Given the description of an element on the screen output the (x, y) to click on. 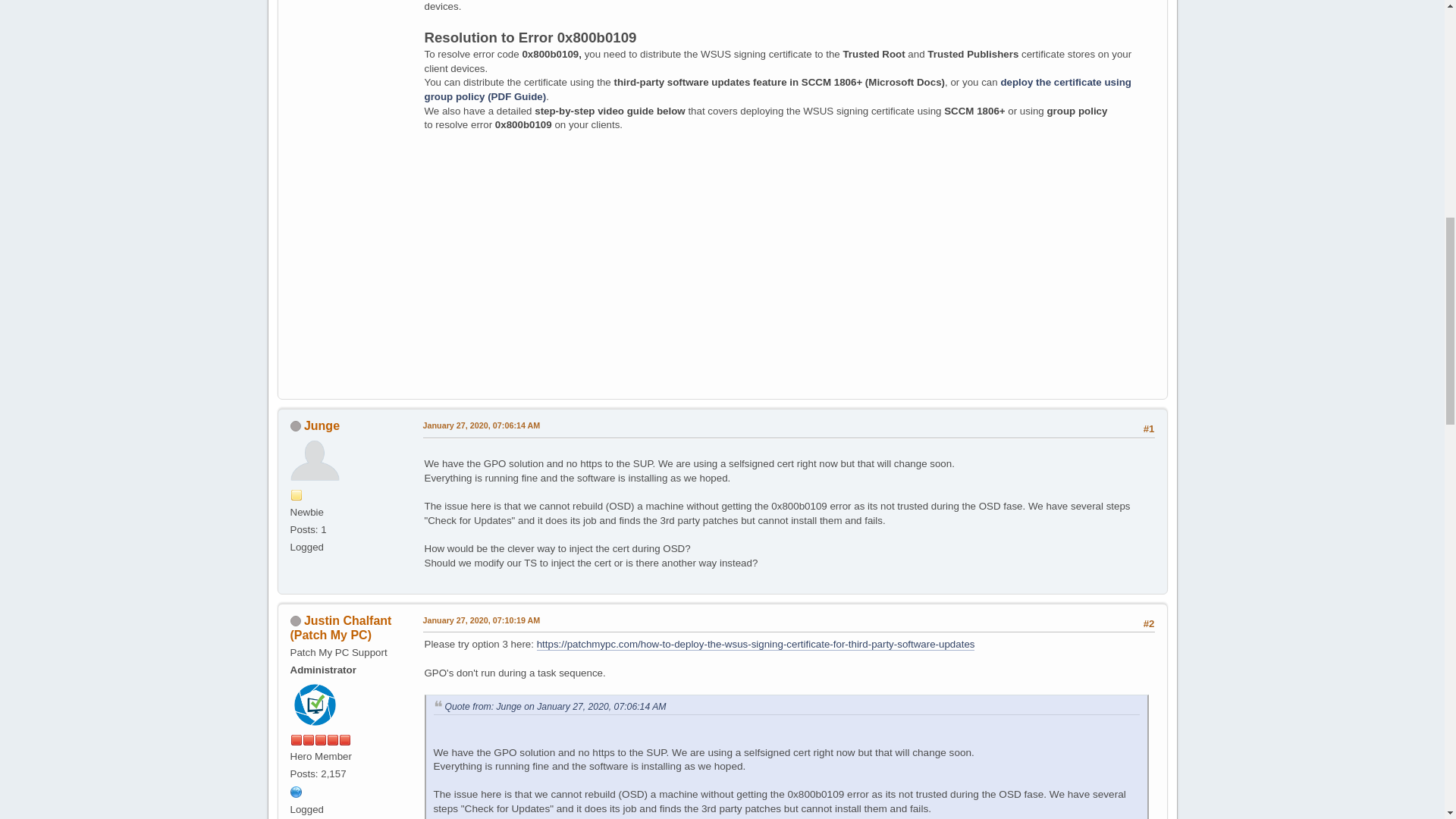
Patch My PC Support (295, 790)
January 27, 2020, 07:10:19 AM (481, 621)
January 27, 2020, 07:06:14 AM (481, 426)
Offline (294, 620)
Patch My PC Support (295, 791)
Junge (321, 425)
Offline (294, 425)
View the profile of Junge (321, 425)
Quote from: Junge on January 27, 2020, 07:06:14 AM (554, 706)
